Given the description of an element on the screen output the (x, y) to click on. 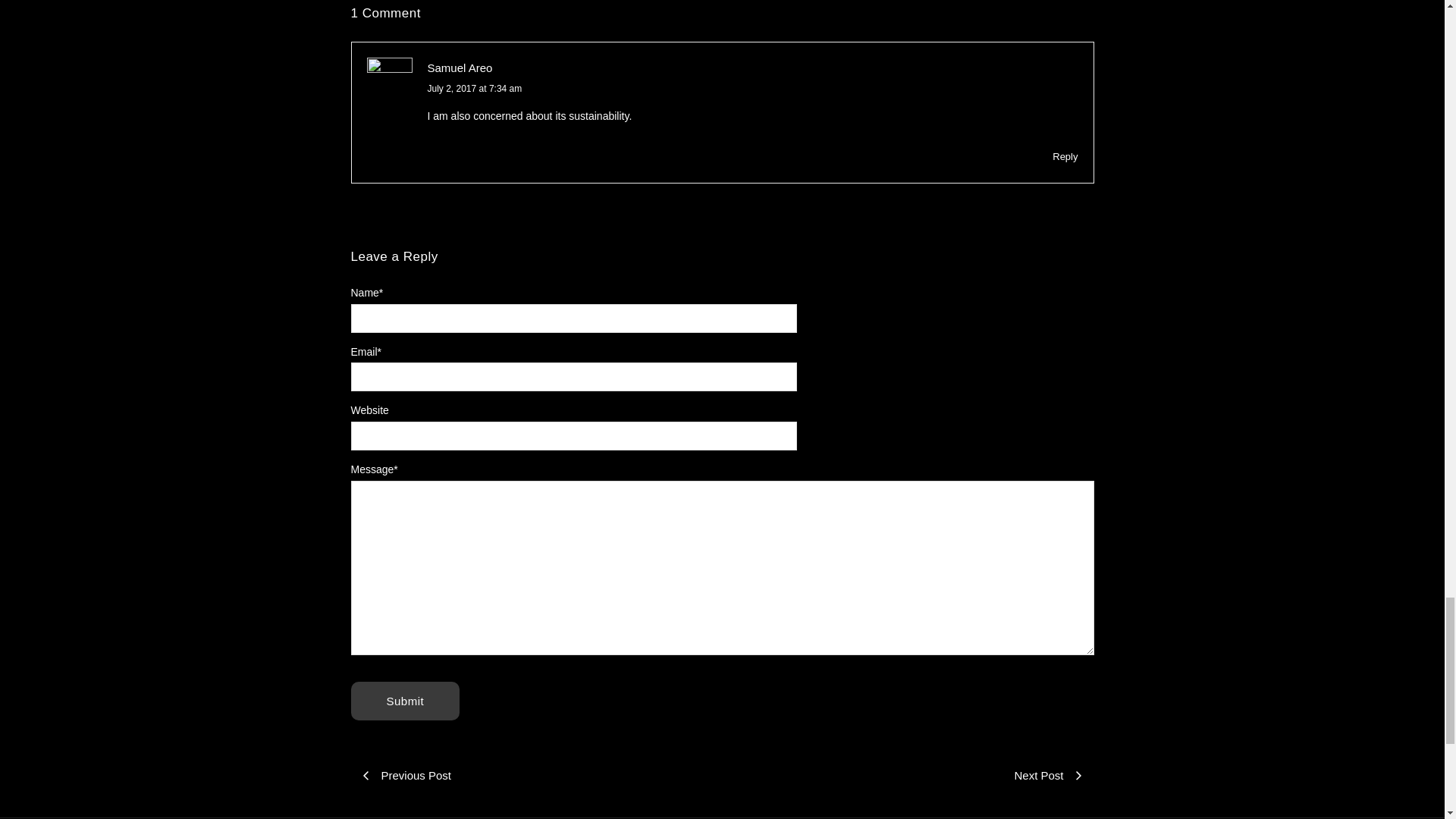
Previous Post (536, 775)
Submit (405, 700)
Next Post (907, 775)
Submit (405, 700)
Reply (1064, 157)
